Given the description of an element on the screen output the (x, y) to click on. 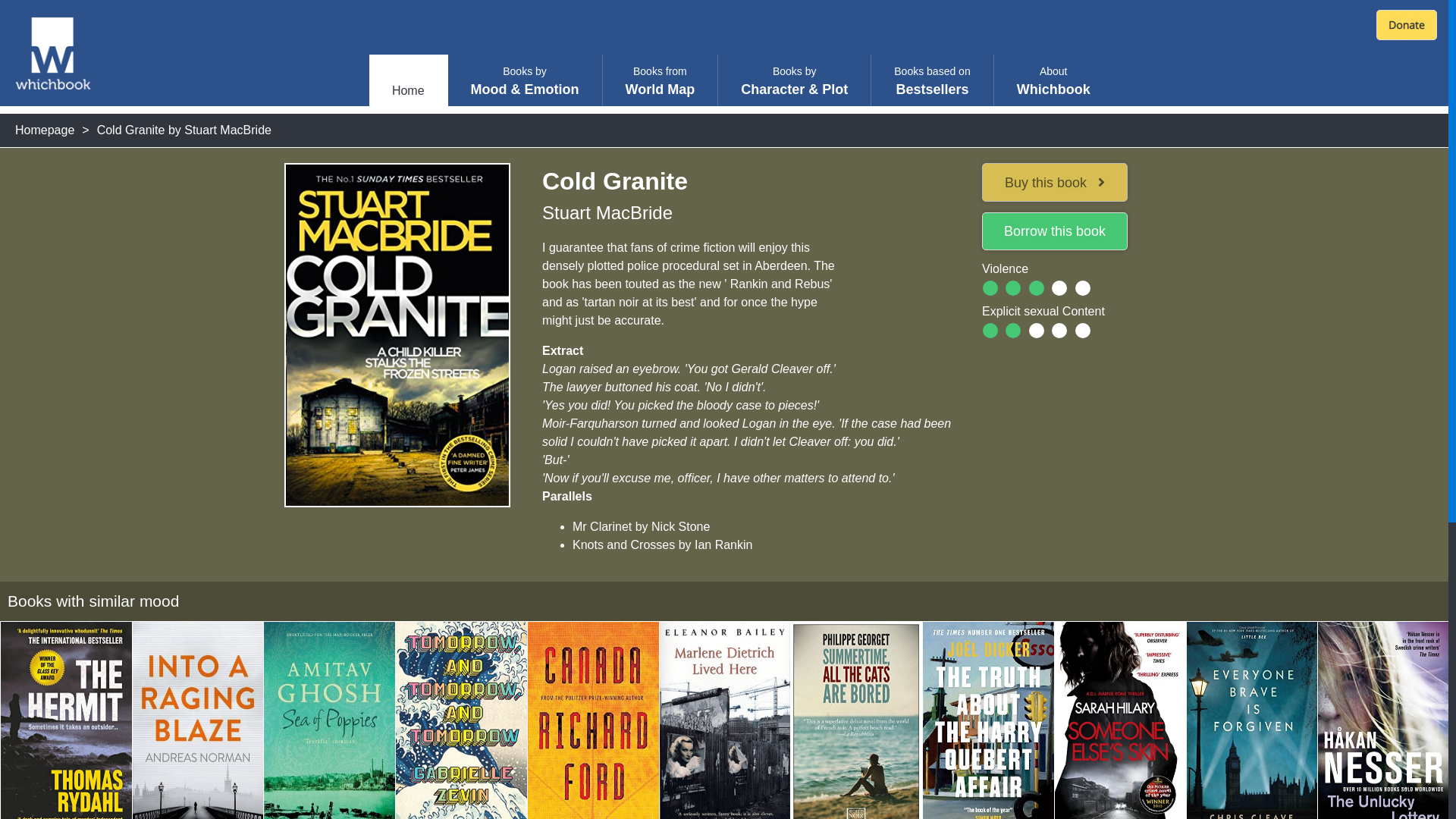
Buy this book   (1053, 181)
Home (408, 90)
Borrow this book (1053, 231)
PayPal - The safer, easier way to pay online! (1053, 81)
Homepage (931, 81)
